Given the description of an element on the screen output the (x, y) to click on. 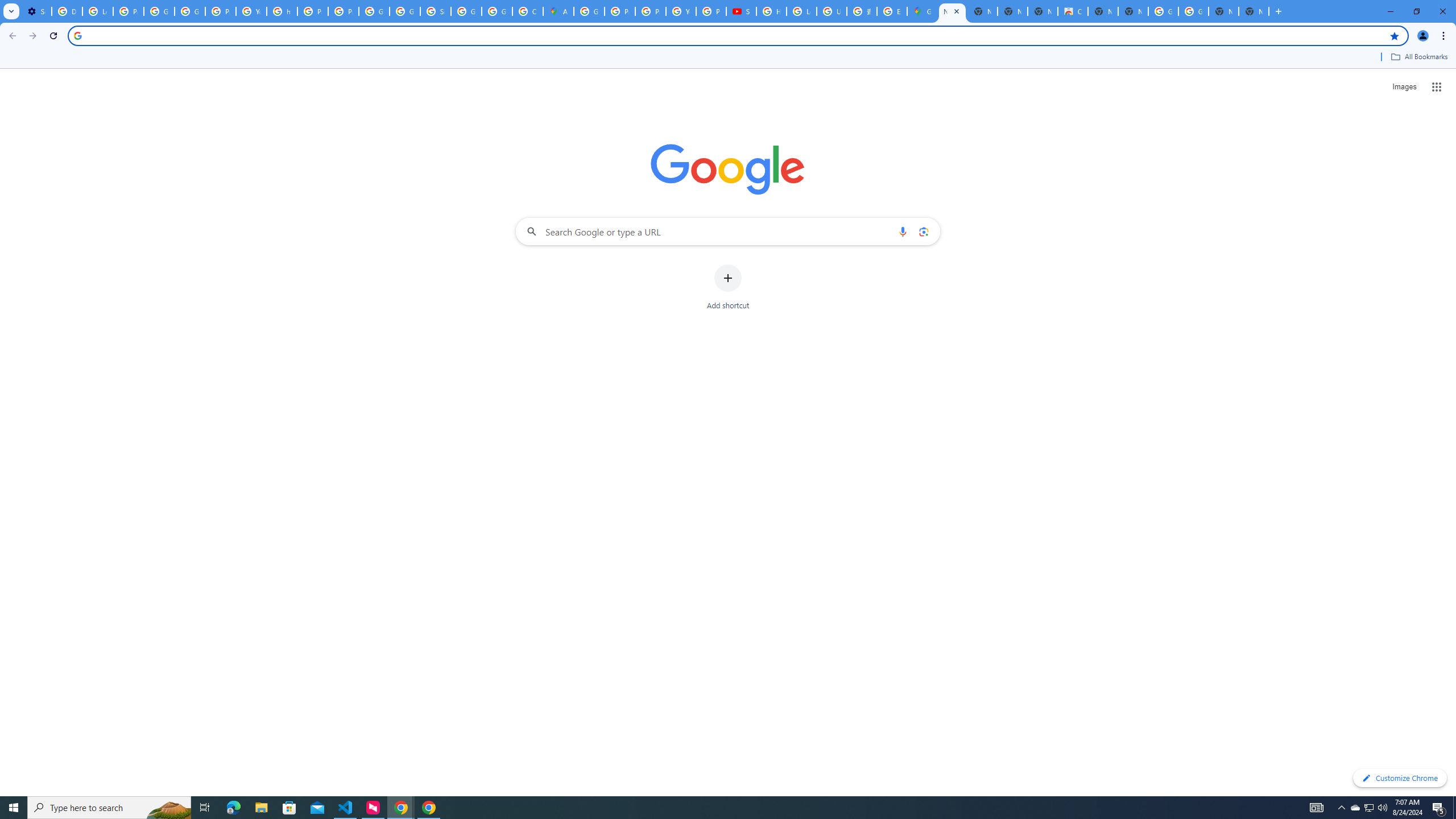
Google Images (1162, 11)
Search for Images  (1403, 87)
Customize Chrome (1399, 778)
YouTube (251, 11)
New Tab (1253, 11)
Privacy Help Center - Policies Help (650, 11)
All Bookmarks (1418, 56)
Delete photos & videos - Computer - Google Photos Help (66, 11)
